Given the description of an element on the screen output the (x, y) to click on. 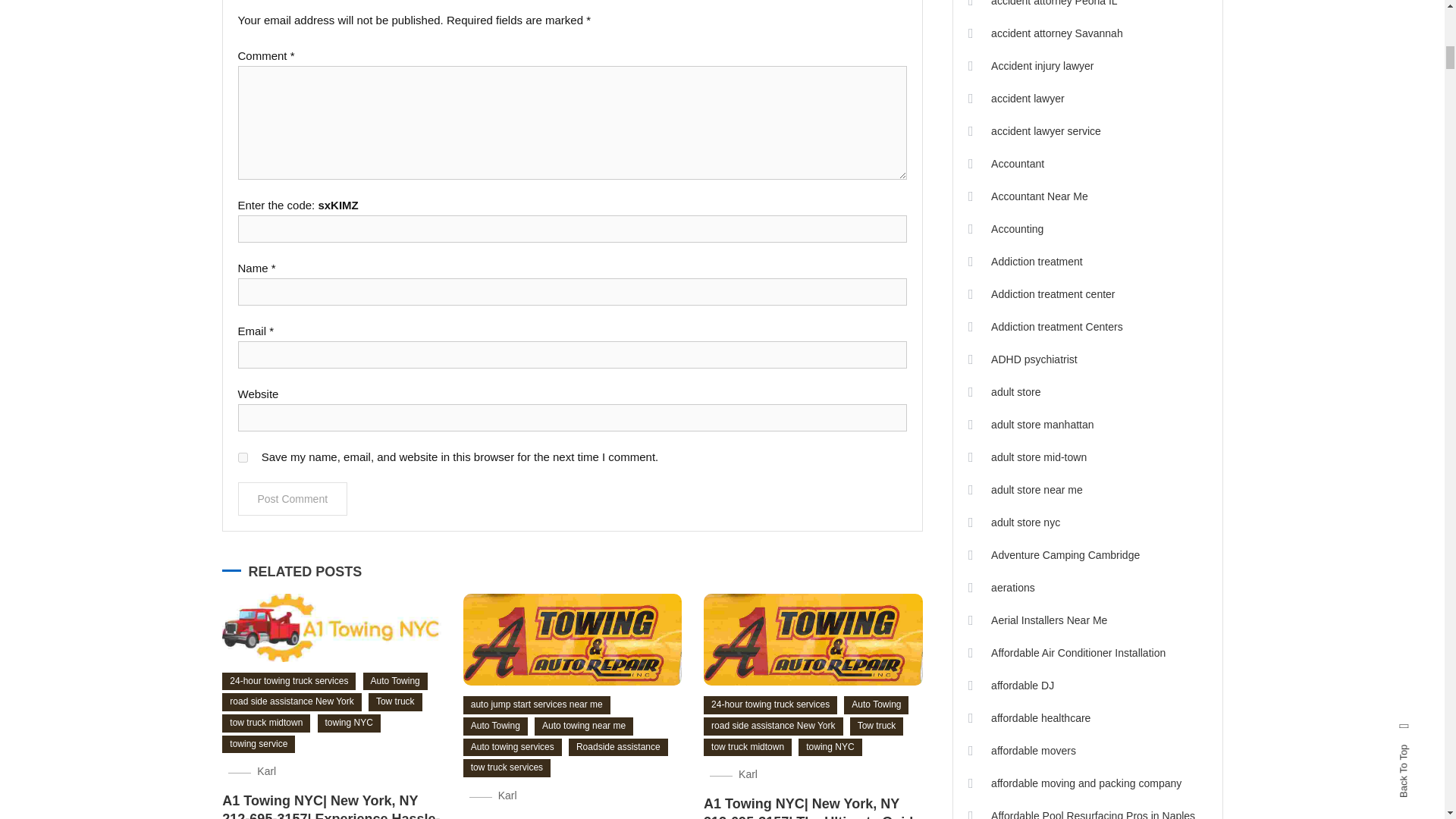
Post Comment (292, 498)
yes (242, 457)
